Given the description of an element on the screen output the (x, y) to click on. 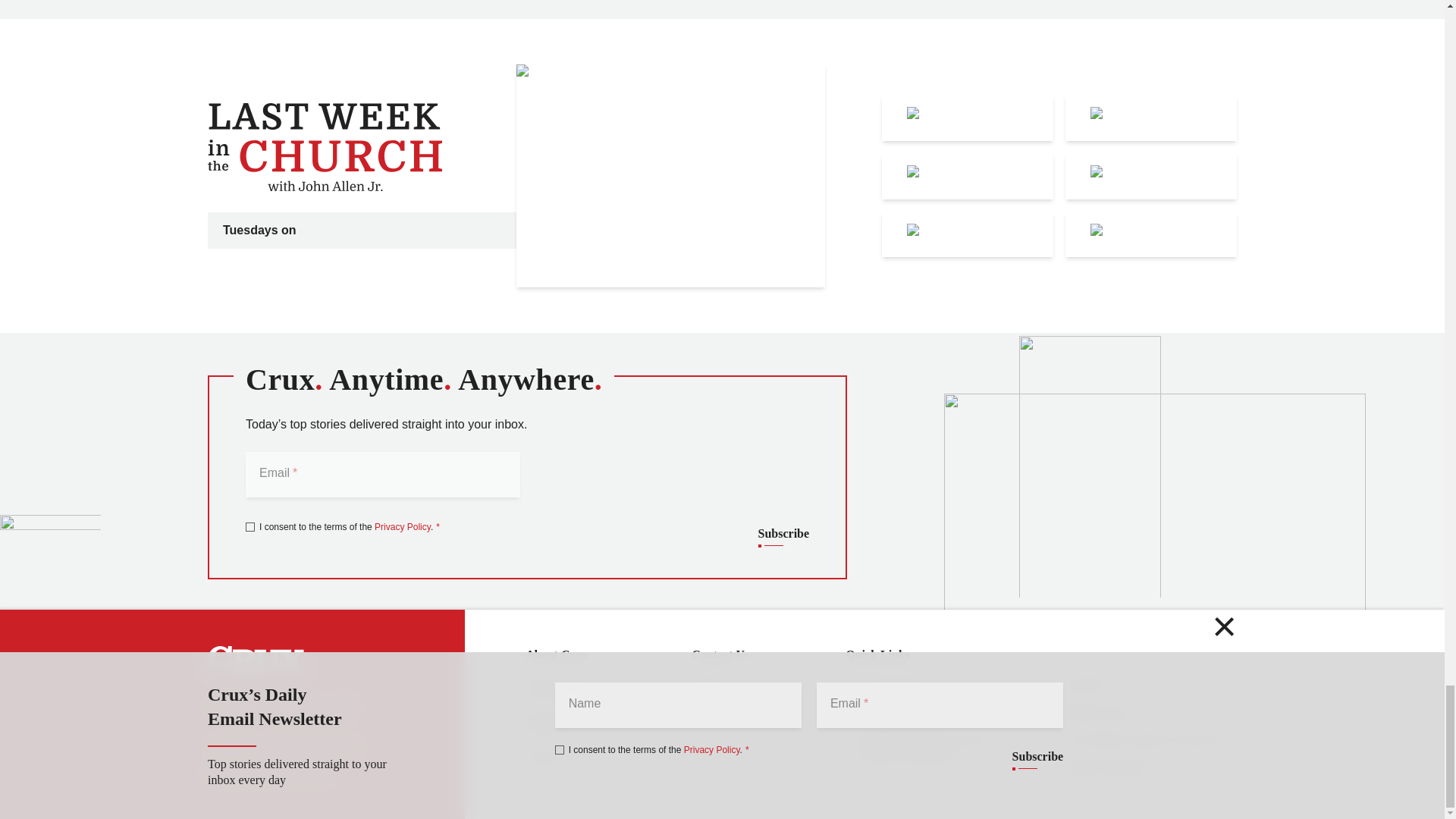
true (250, 526)
